Given the description of an element on the screen output the (x, y) to click on. 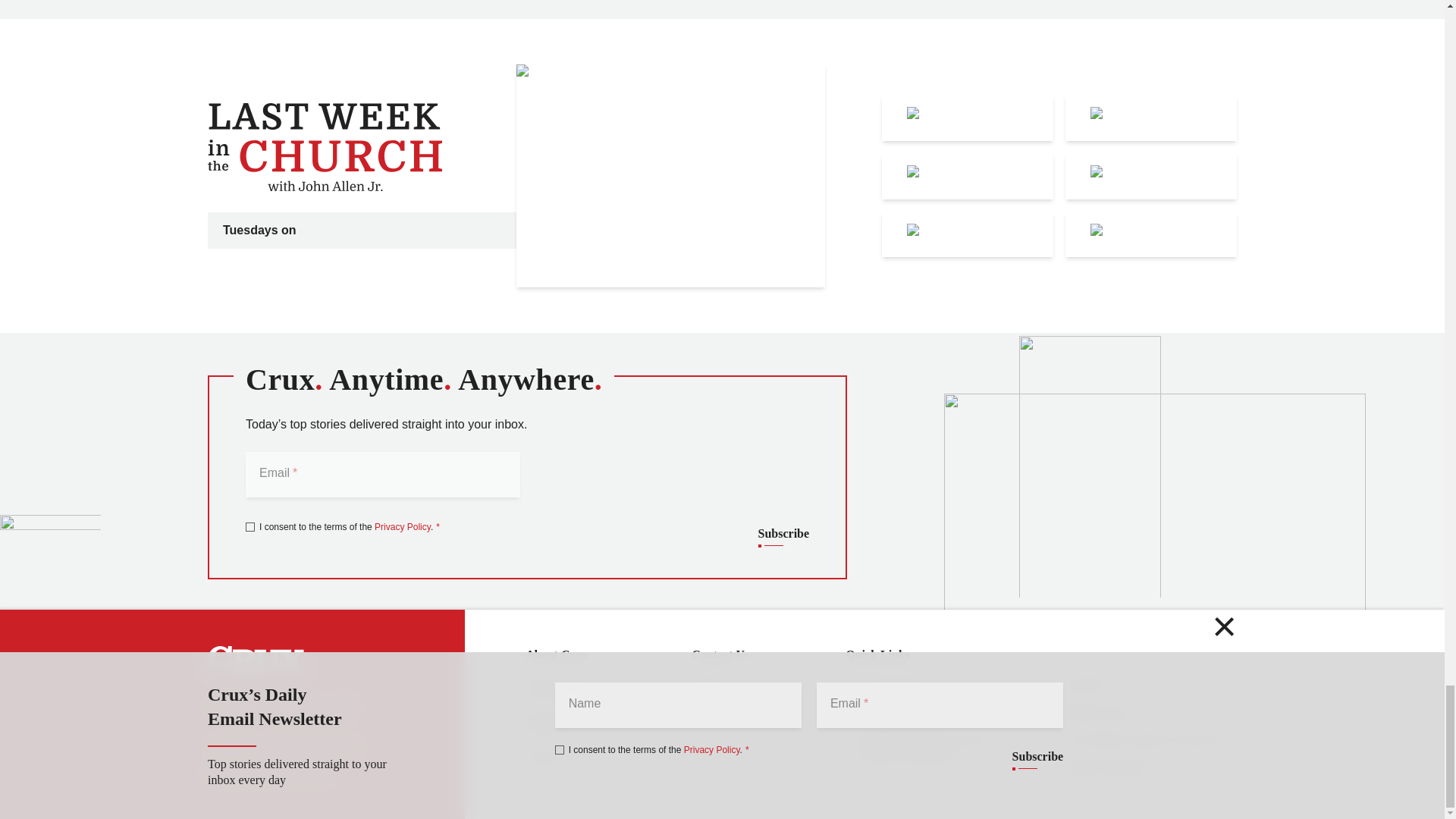
true (250, 526)
